Given the description of an element on the screen output the (x, y) to click on. 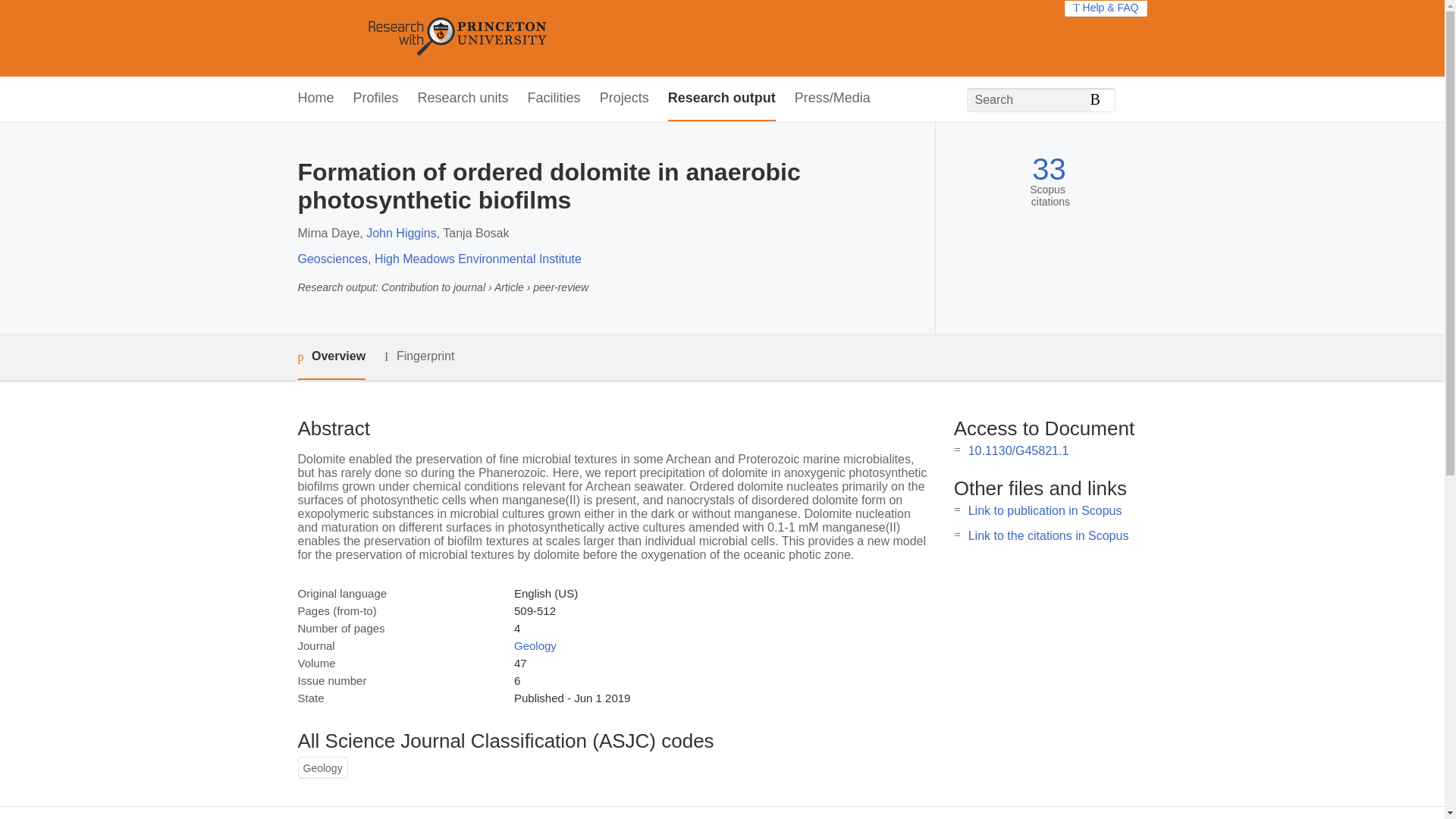
High Meadows Environmental Institute (477, 258)
33 (1048, 169)
Profiles (375, 98)
Projects (624, 98)
Link to the citations in Scopus (1048, 535)
Fingerprint (419, 356)
Research units (462, 98)
Link to publication in Scopus (1045, 510)
Research output (722, 98)
Home (315, 98)
Facilities (553, 98)
Geology (534, 645)
John Higgins (401, 232)
Overview (331, 357)
